Given the description of an element on the screen output the (x, y) to click on. 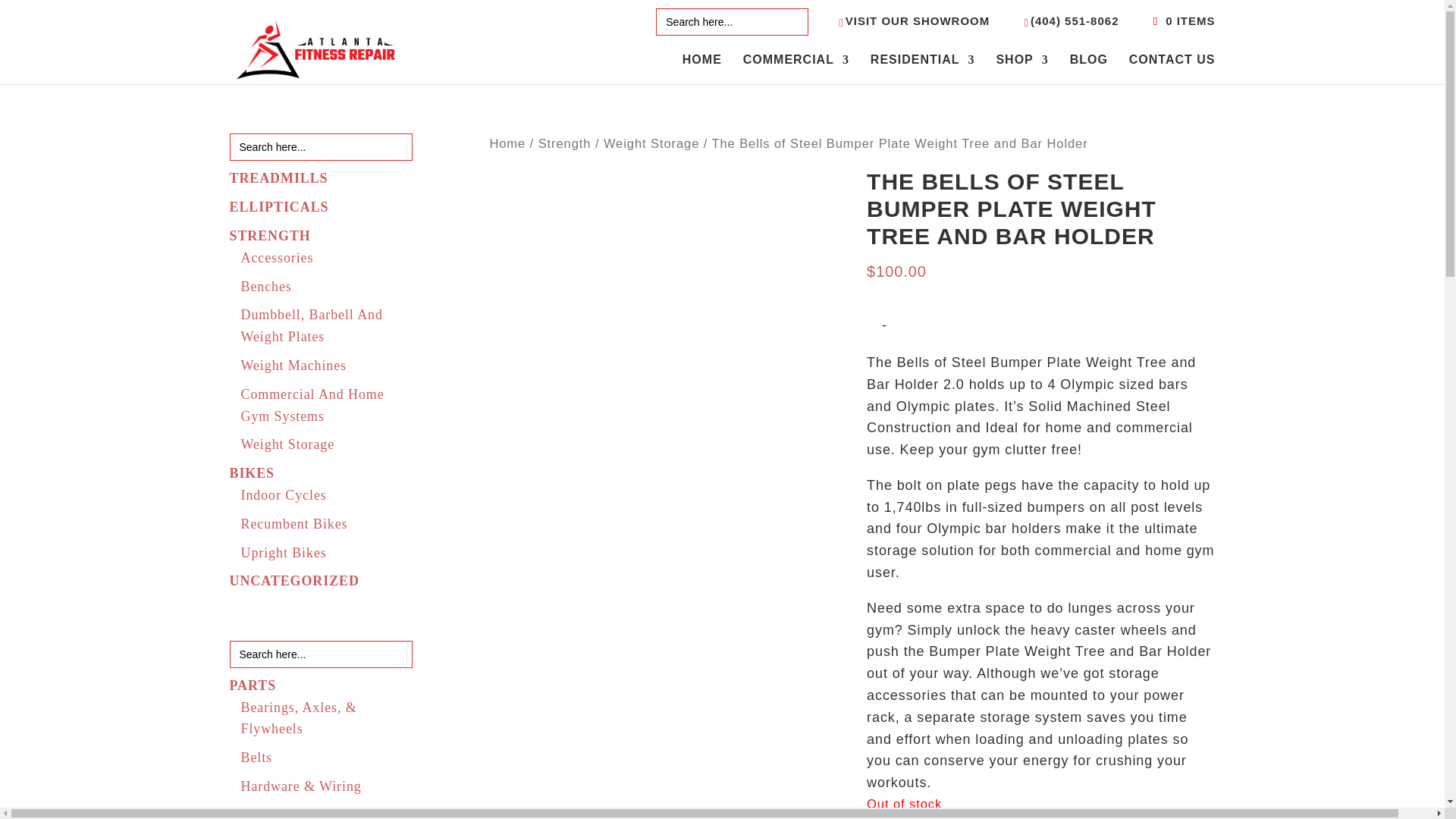
VISIT OUR SHOWROOM (914, 25)
RESIDENTIAL (922, 69)
CONTACT US (1172, 69)
Weight Storage (651, 143)
SHOP (1021, 69)
HOME (702, 69)
BLOG (1089, 69)
COMMERCIAL (795, 69)
Strength (564, 143)
0 ITEMS (1181, 20)
